Given the description of an element on the screen output the (x, y) to click on. 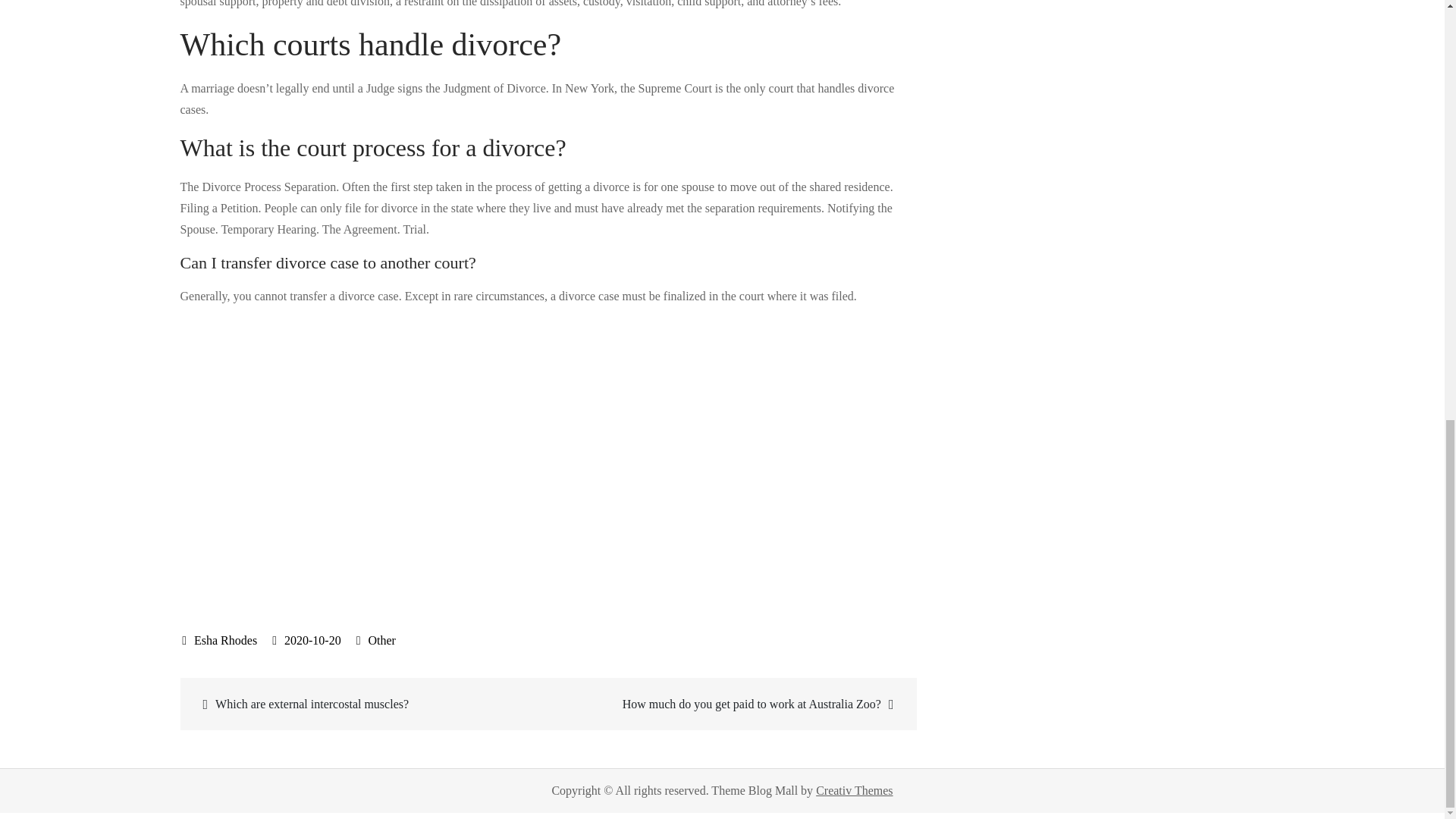
Other (381, 640)
Esha Rhodes (219, 640)
How much do you get paid to work at Australia Zoo? (730, 703)
2020-10-20 (306, 640)
Which are external intercostal muscles? (366, 703)
Filing California Divorce Forms: Form 1 of 10 the FL-100 (422, 455)
